Given the description of an element on the screen output the (x, y) to click on. 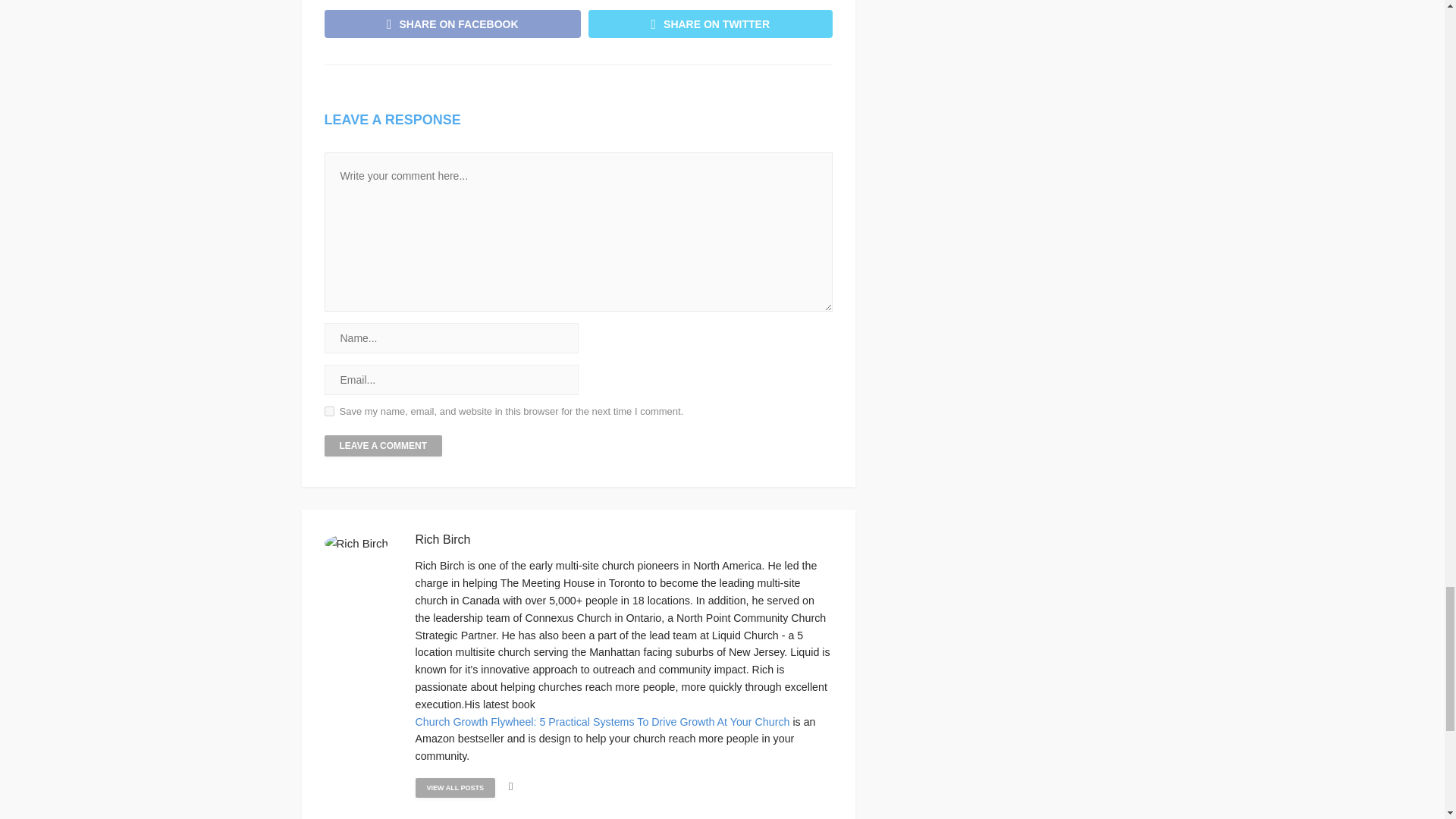
Leave a comment (383, 445)
yes (329, 411)
